Given the description of an element on the screen output the (x, y) to click on. 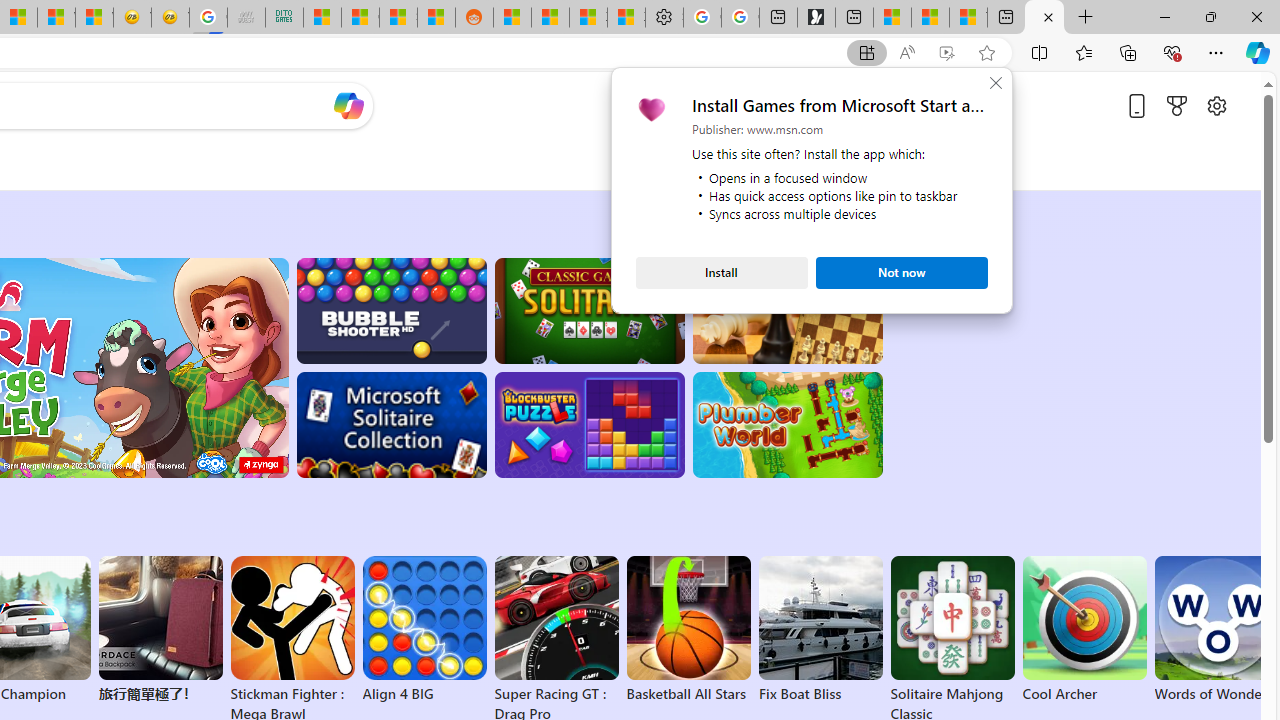
Align 4 BIG (424, 629)
These 3 Stocks Pay You More Than 5% to Own Them (967, 17)
Not now (902, 272)
Microsoft Solitaire Collection (390, 425)
BlockBuster: Adventures Puzzle (589, 425)
